Given the description of an element on the screen output the (x, y) to click on. 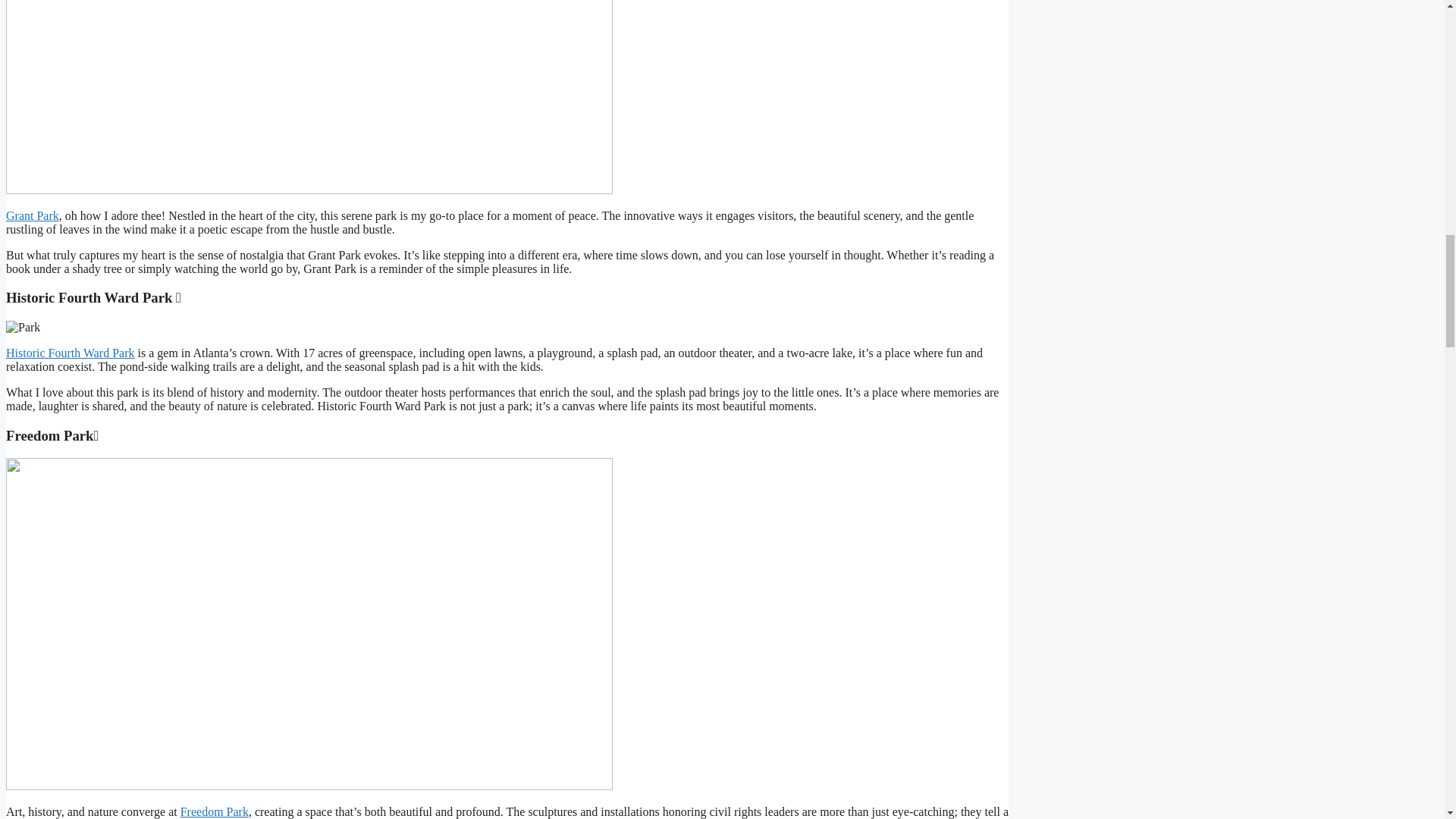
Freedom Park (214, 811)
Grant Park (32, 215)
Historic Fourth Ward Park (70, 352)
